Given the description of an element on the screen output the (x, y) to click on. 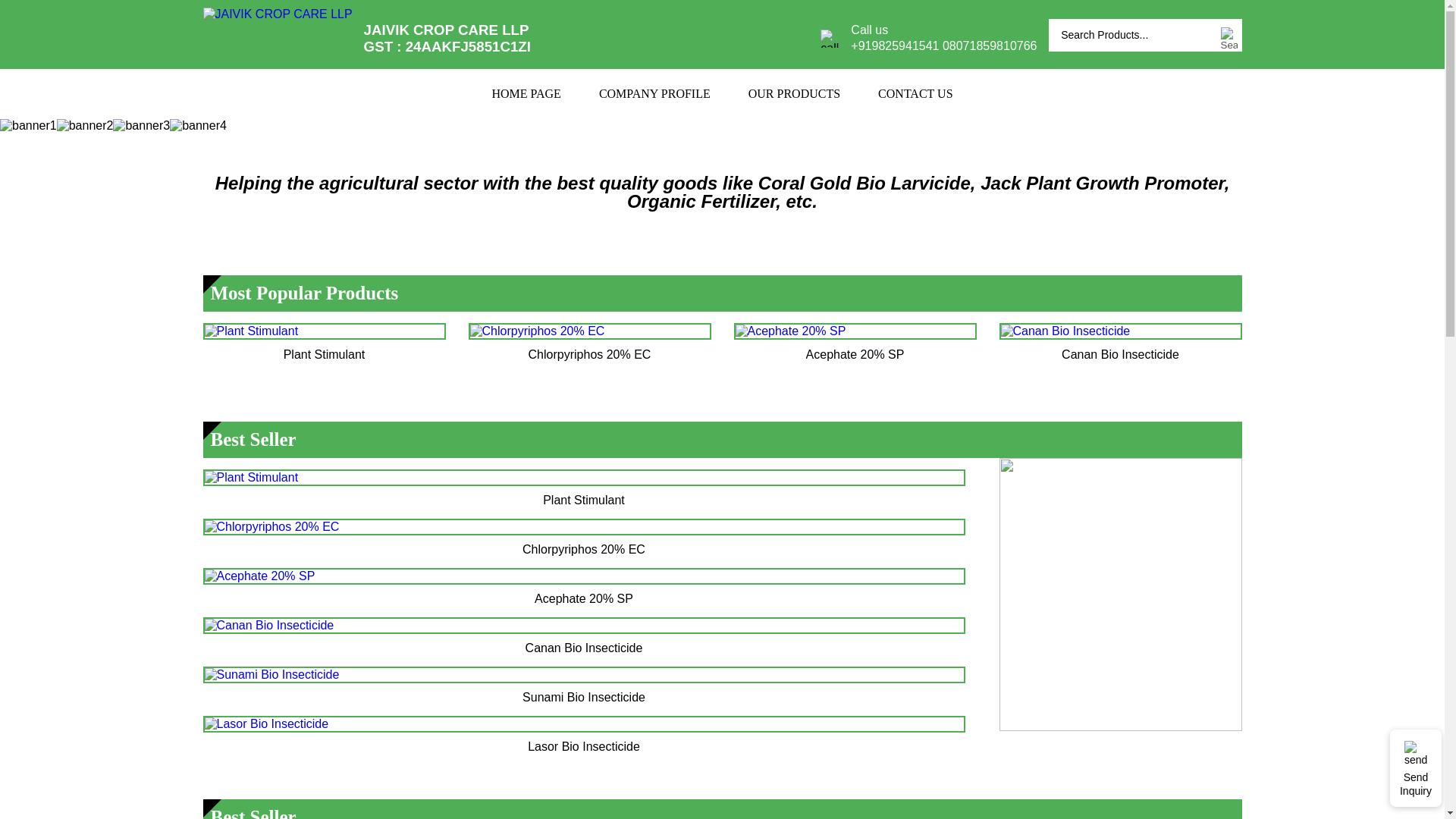
Plant Stimulant (251, 477)
COMPANY PROFILE (654, 93)
Lasor Bio Insecticide (267, 724)
Sunami Bio Insecticide (272, 674)
Search Products... (1133, 34)
Search Products... (1133, 34)
Plant Stimulant (251, 331)
Canan Bio Insecticide (269, 625)
OUR PRODUCTS (794, 93)
HOME PAGE (525, 93)
